Given the description of an element on the screen output the (x, y) to click on. 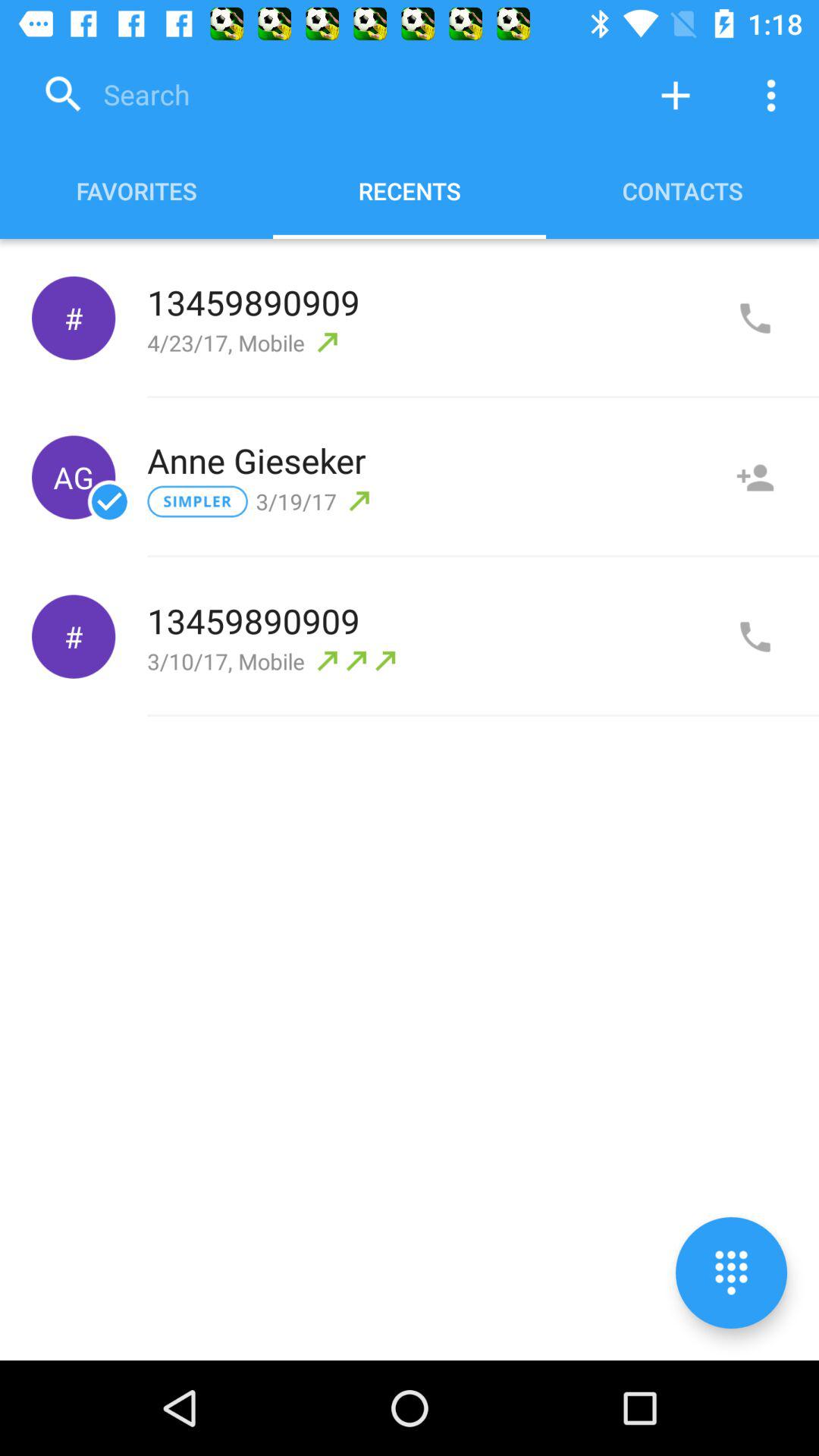
add contact (755, 477)
